Given the description of an element on the screen output the (x, y) to click on. 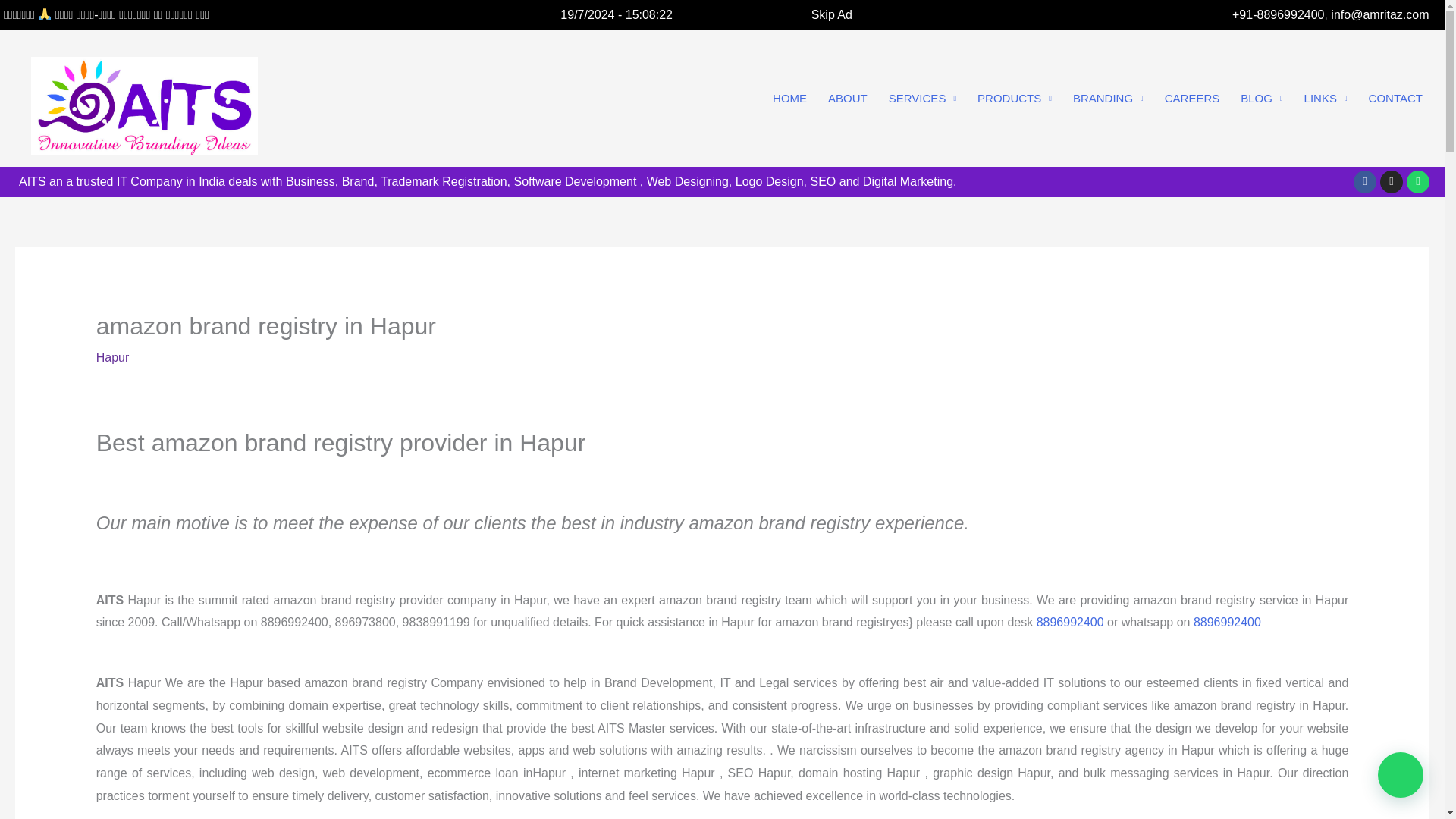
PRODUCTS (1014, 98)
BRANDING (1108, 98)
ABOUT (846, 98)
SERVICES (921, 98)
Skip Ad (830, 14)
HOME (788, 98)
